Given the description of an element on the screen output the (x, y) to click on. 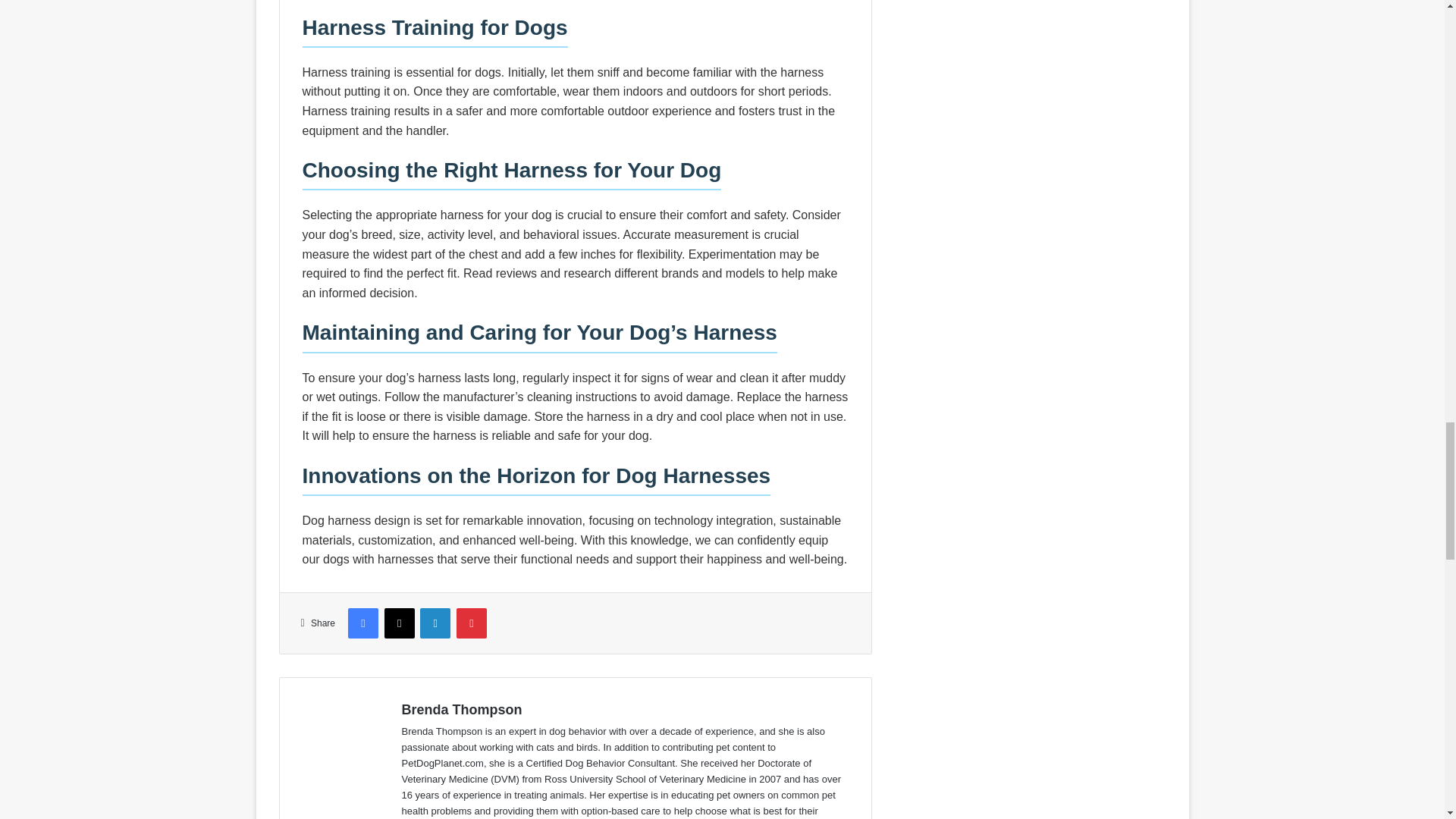
Facebook (362, 623)
LinkedIn (434, 623)
Pinterest (471, 623)
X (399, 623)
